Given the description of an element on the screen output the (x, y) to click on. 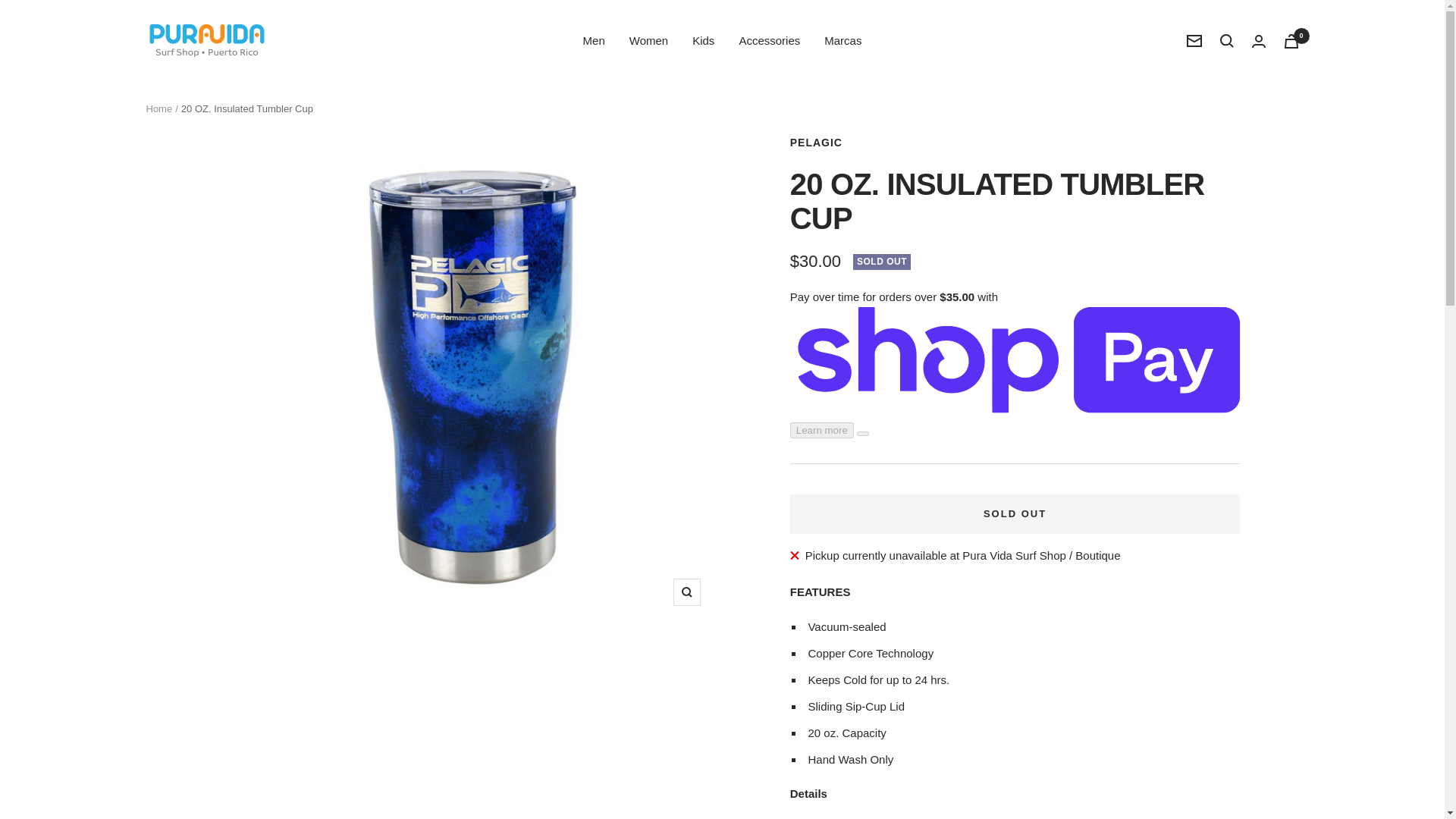
Home (158, 108)
Men (594, 40)
Newsletter (1193, 40)
0 (1290, 40)
PURA VIDA SURF SHOP BOUTIQUE (205, 40)
Women (648, 40)
Marcas (842, 40)
Kids (703, 40)
Accessories (768, 40)
Zoom (686, 592)
SOLD OUT (1015, 513)
PELAGIC (816, 142)
